Given the description of an element on the screen output the (x, y) to click on. 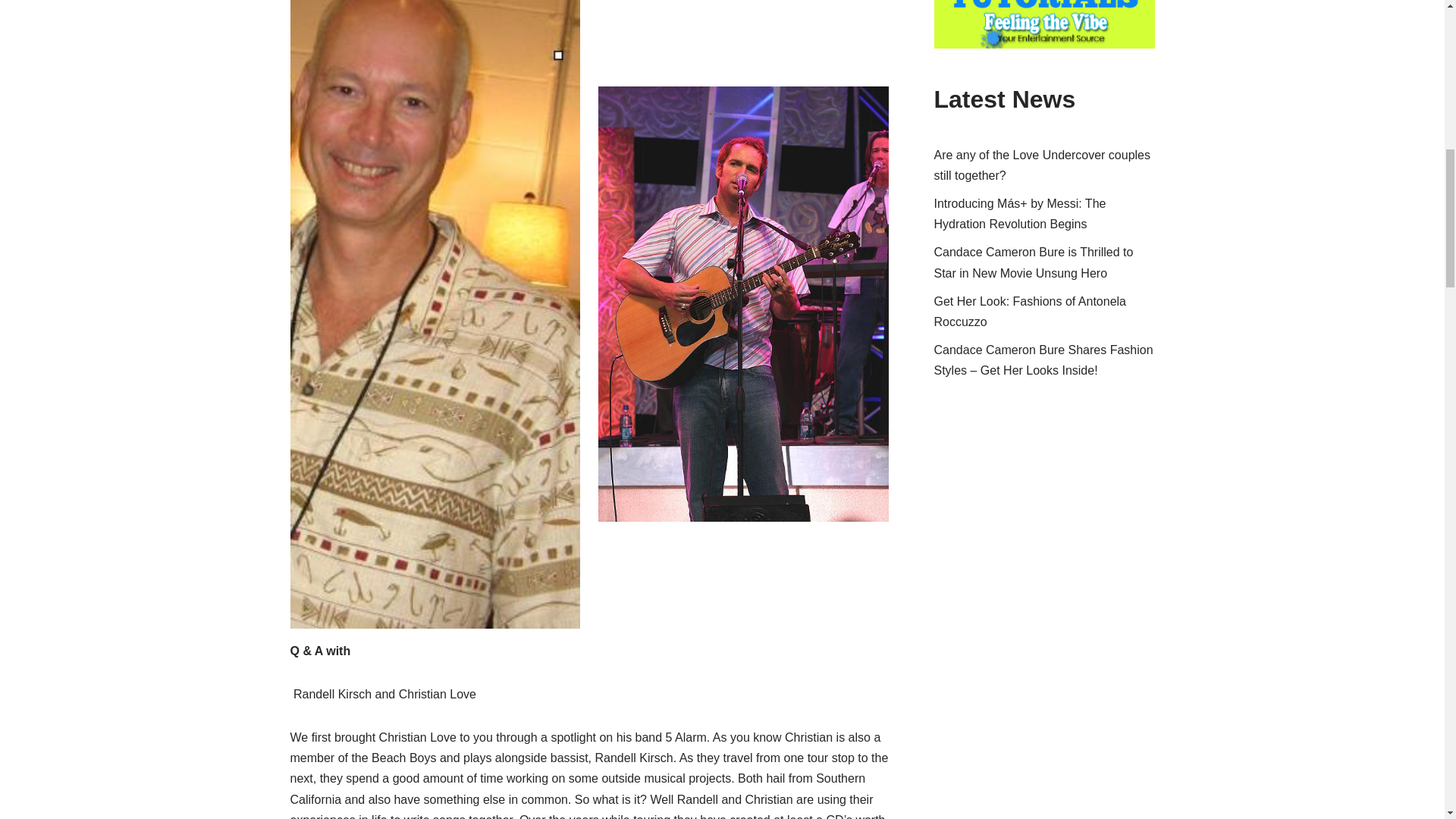
Get Her Look: Fashions of Antonela Roccuzzo (1029, 311)
Are any of the Love Undercover couples still together?  (1042, 164)
